Given the description of an element on the screen output the (x, y) to click on. 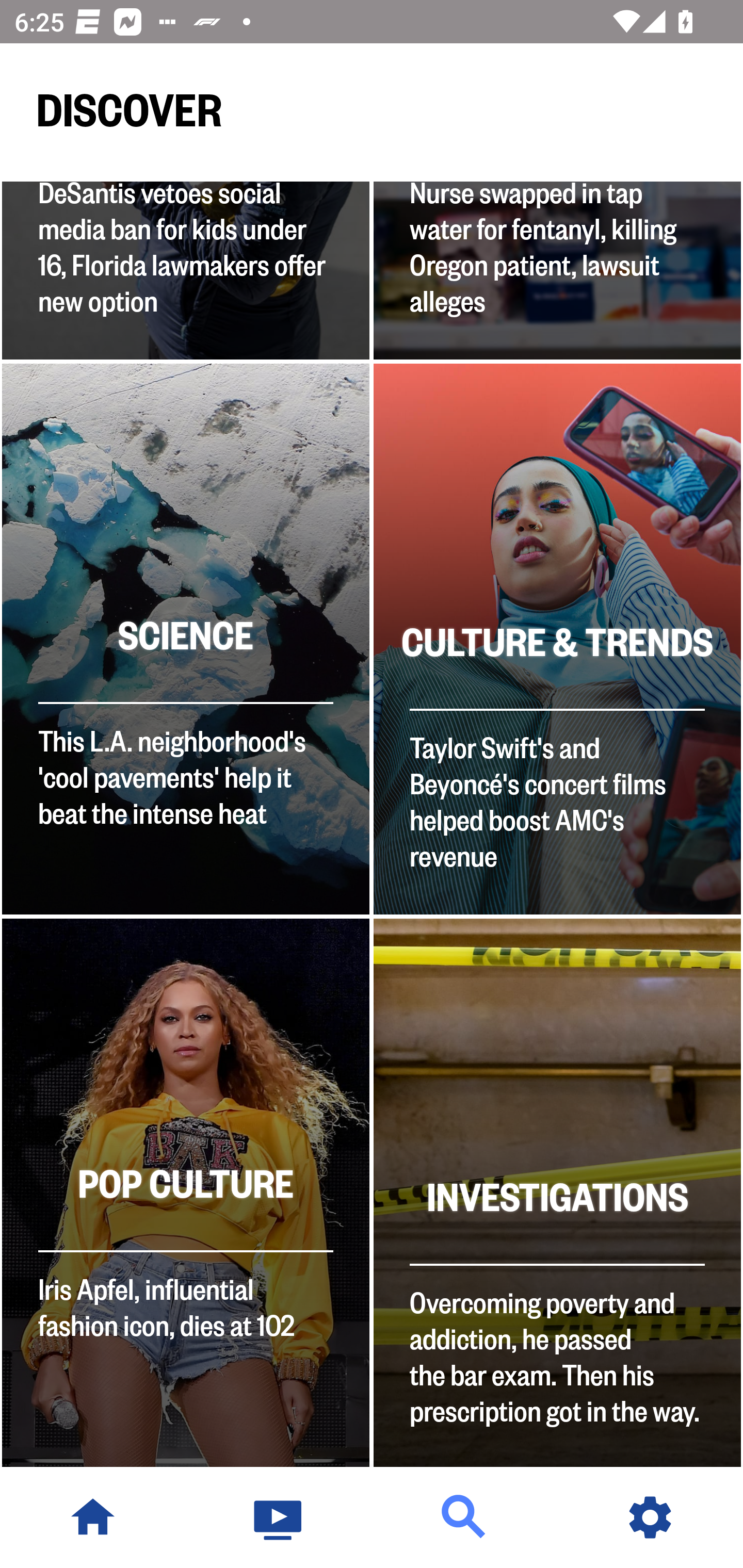
NBC News Home (92, 1517)
Watch (278, 1517)
Settings (650, 1517)
